Given the description of an element on the screen output the (x, y) to click on. 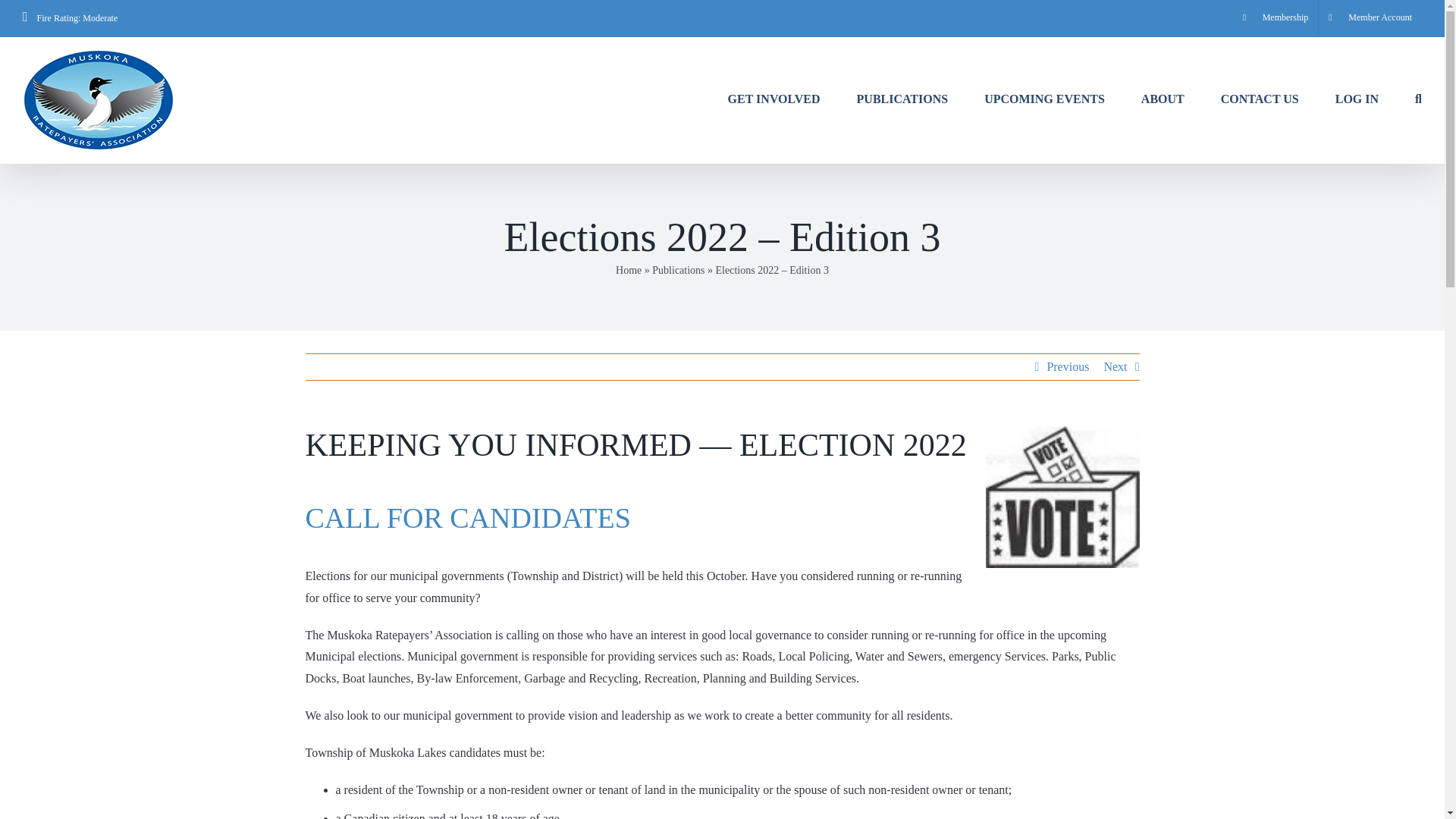
UPCOMING EVENTS (1044, 97)
Member Account (1370, 18)
Membership (1276, 18)
